Given the description of an element on the screen output the (x, y) to click on. 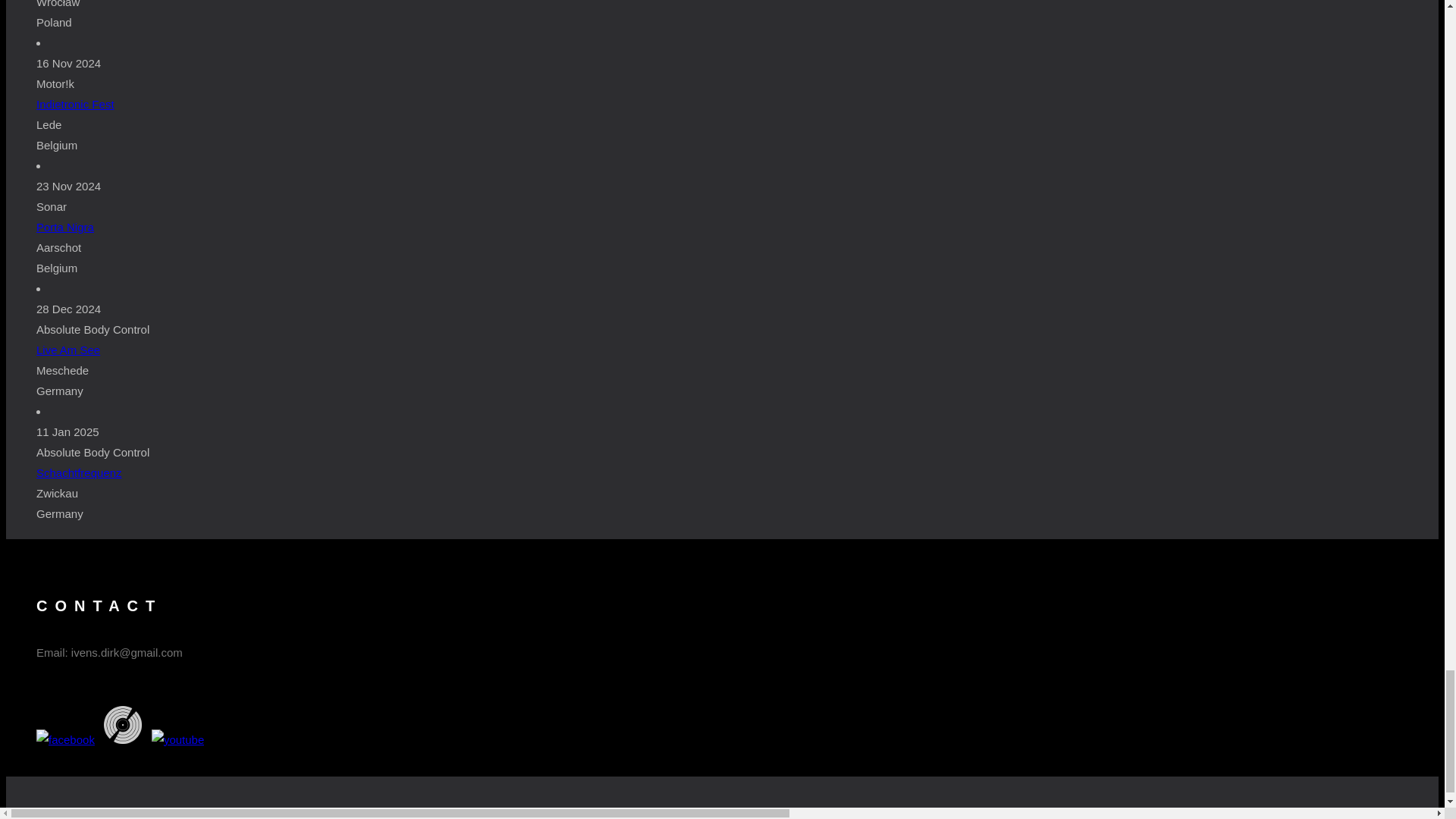
Live Am See (68, 349)
Porta Nigra (65, 226)
Indietronic Fest (75, 103)
Schachtfrequenz (79, 472)
